Given the description of an element on the screen output the (x, y) to click on. 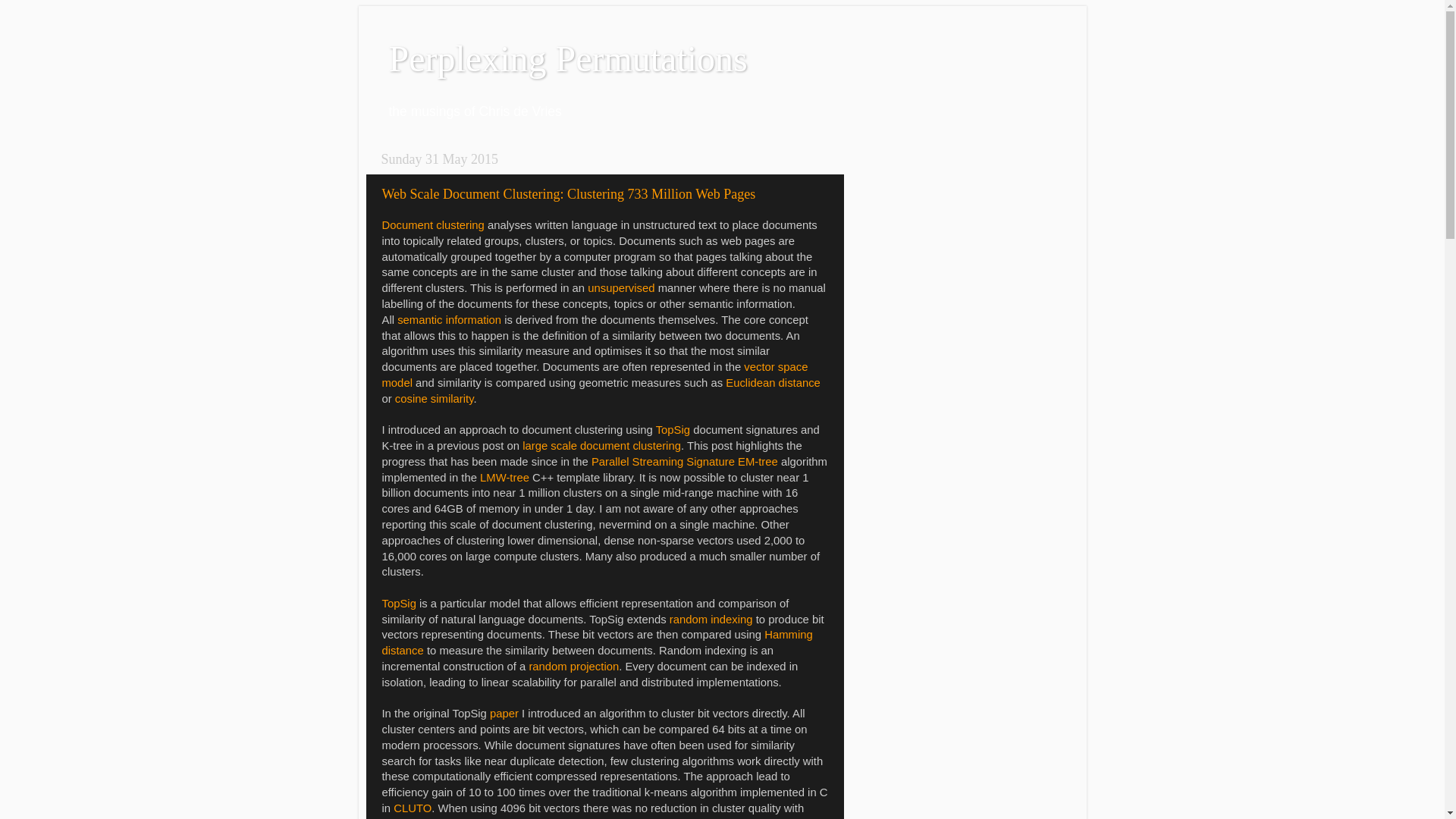
random projection Element type: text (573, 666)
TopSig Element type: text (399, 603)
random indexing Element type: text (711, 619)
Perplexing Permutations Element type: text (567, 58)
Parallel Streaming Signature EM-tree Element type: text (684, 461)
TopSig Element type: text (672, 429)
large scale document clustering Element type: text (601, 445)
CLUTO Element type: text (412, 808)
cosine similarity Element type: text (434, 398)
paper Element type: text (503, 713)
semantic information Element type: text (449, 319)
Hamming distance Element type: text (597, 642)
Document clustering Element type: text (433, 225)
Euclidean distance Element type: text (772, 382)
vector space model Element type: text (595, 374)
LMW-tree Element type: text (504, 477)
unsupervised Element type: text (620, 288)
